Given the description of an element on the screen output the (x, y) to click on. 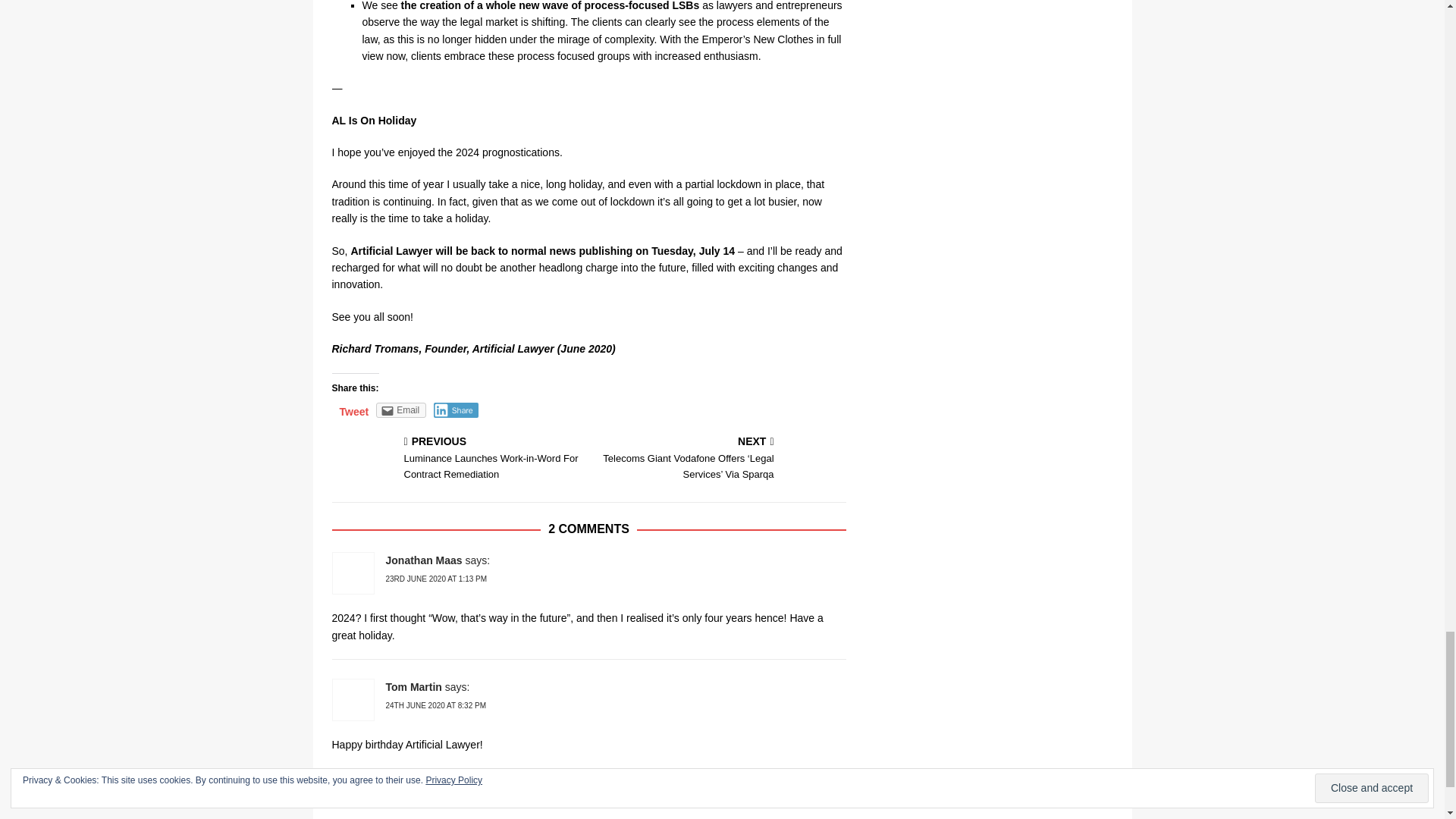
Click to email a link to a friend (400, 409)
